Given the description of an element on the screen output the (x, y) to click on. 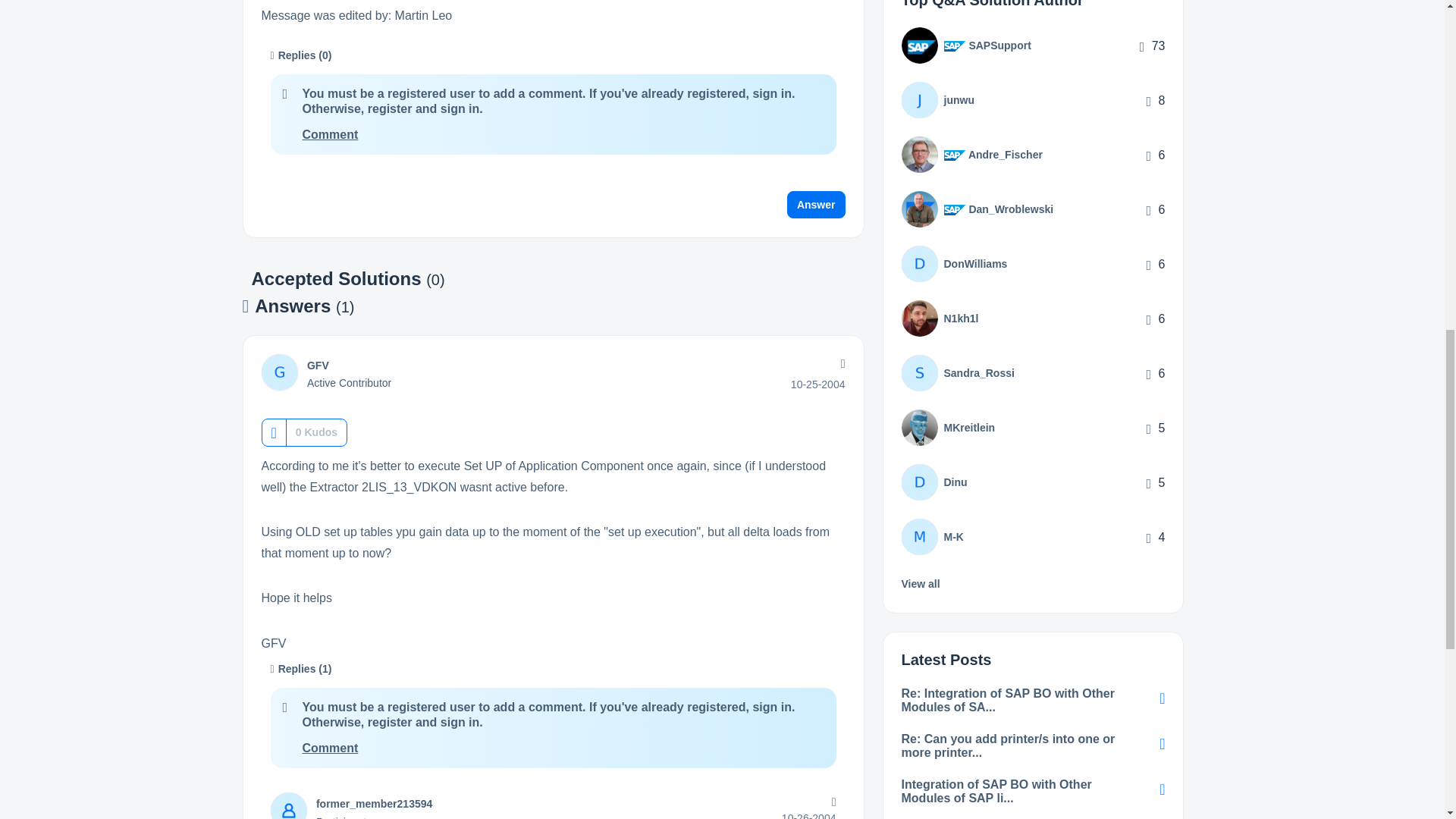
Comment (329, 133)
Comment (329, 748)
Answer (816, 204)
GFV (318, 365)
GFV (278, 371)
